Given the description of an element on the screen output the (x, y) to click on. 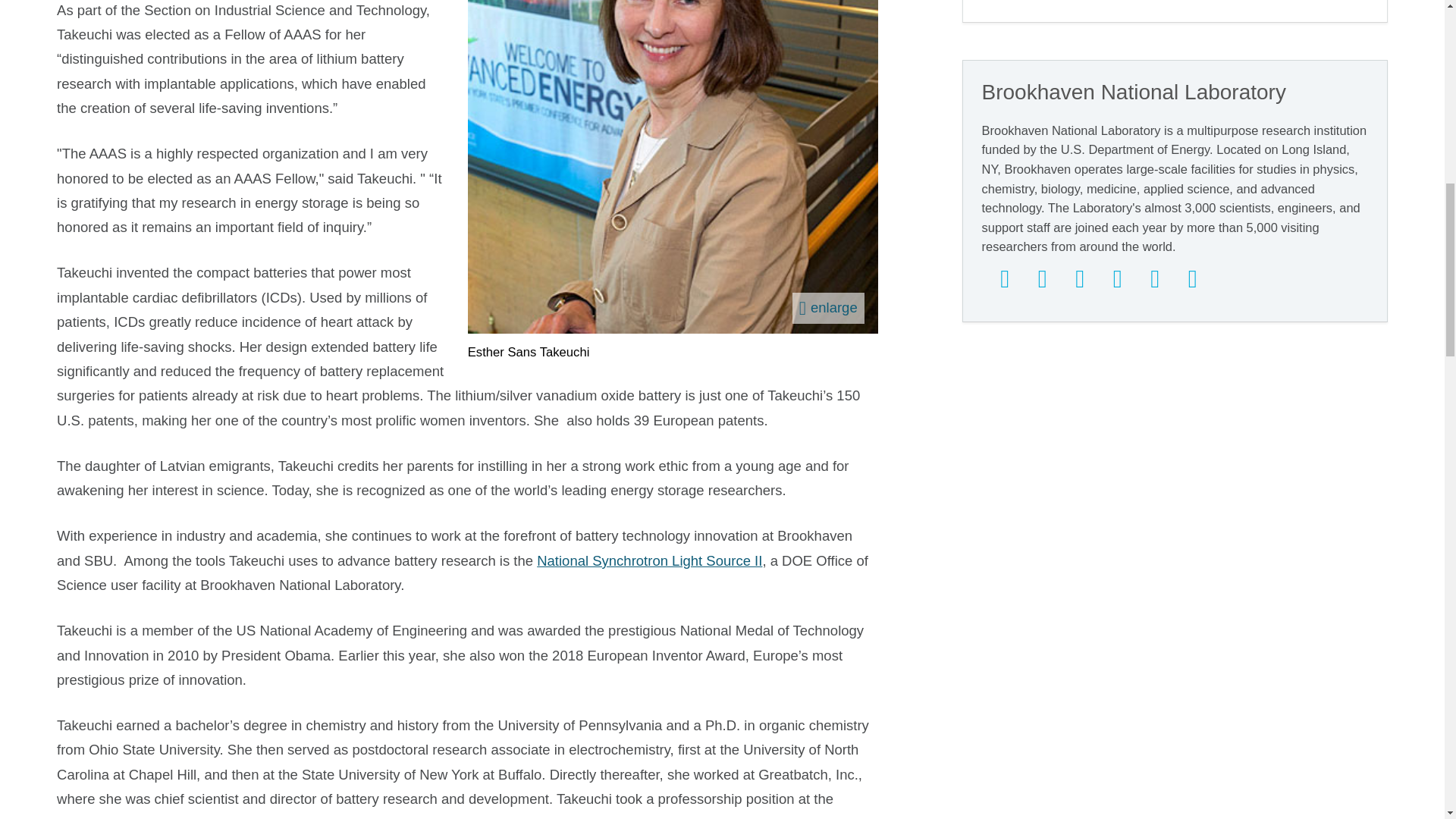
View larger image (828, 308)
